Given the description of an element on the screen output the (x, y) to click on. 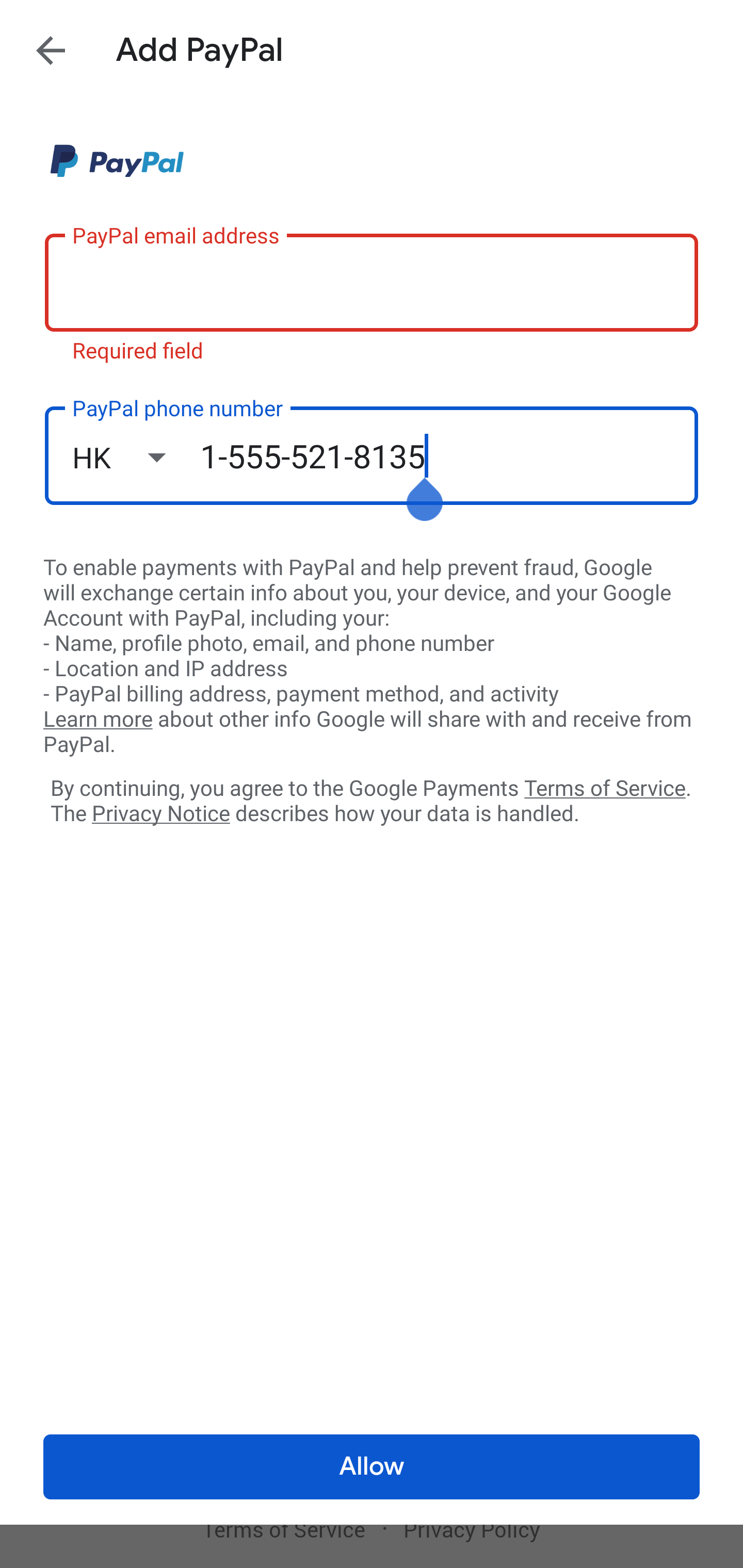
Navigate up (50, 50)
HK (135, 456)
Learn more (97, 719)
Terms of Service (604, 787)
Privacy Notice (160, 814)
Allow (371, 1466)
